Given the description of an element on the screen output the (x, y) to click on. 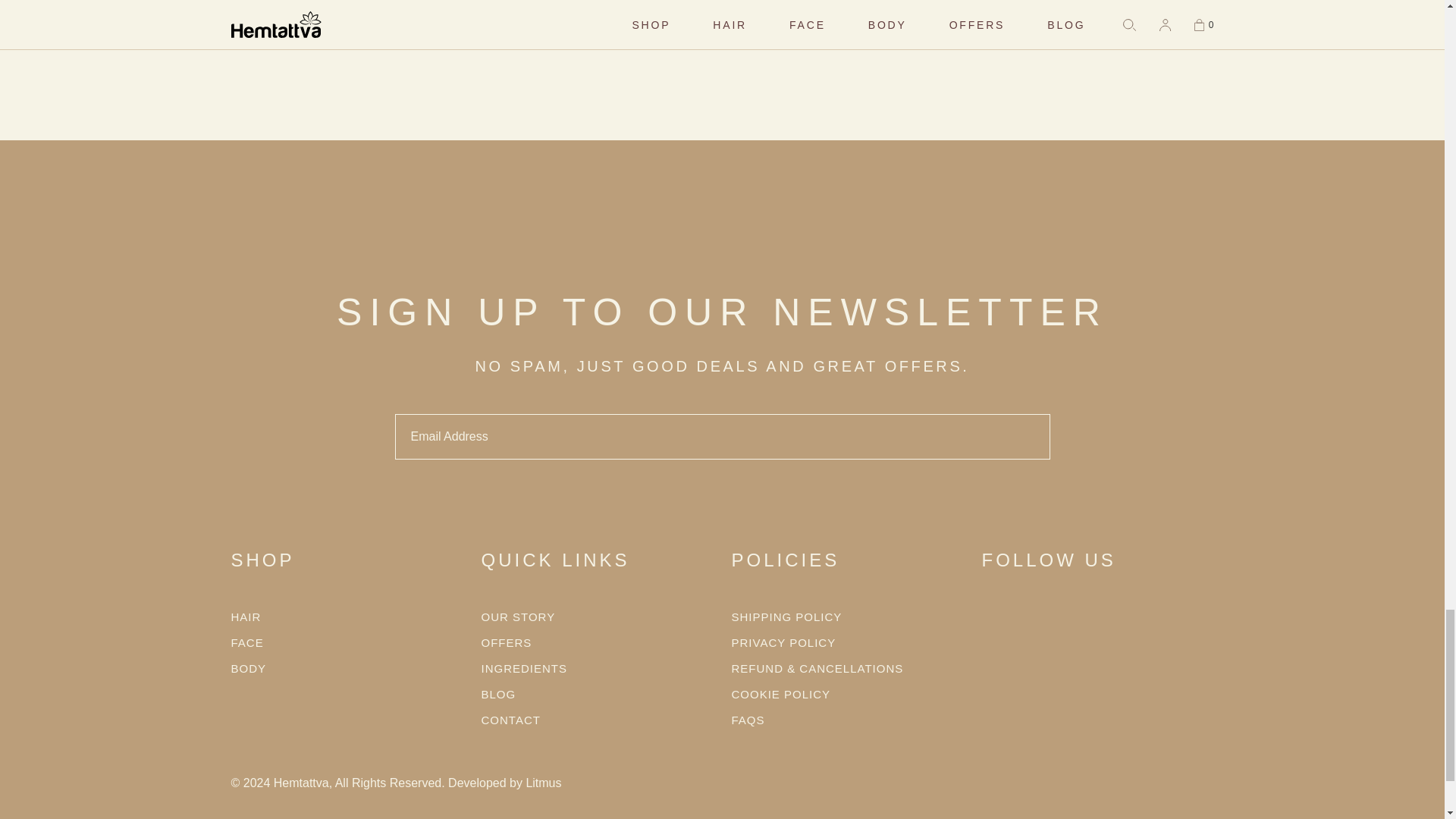
Sign up (1022, 436)
